Given the description of an element on the screen output the (x, y) to click on. 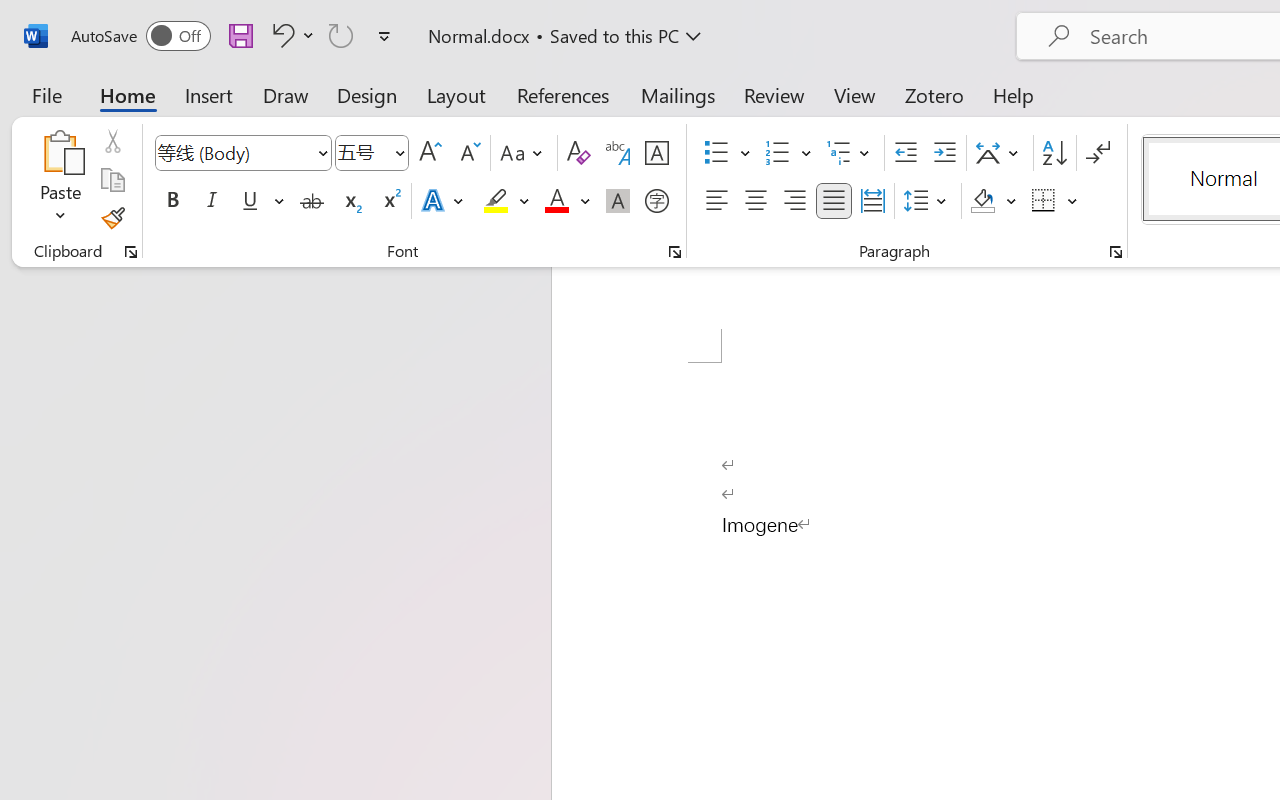
Distributed (872, 201)
Paragraph... (1115, 252)
Undo Typing (290, 35)
Increase Indent (944, 153)
Font Color (567, 201)
Text Highlight Color (506, 201)
Shading RGB(0, 0, 0) (982, 201)
